Given the description of an element on the screen output the (x, y) to click on. 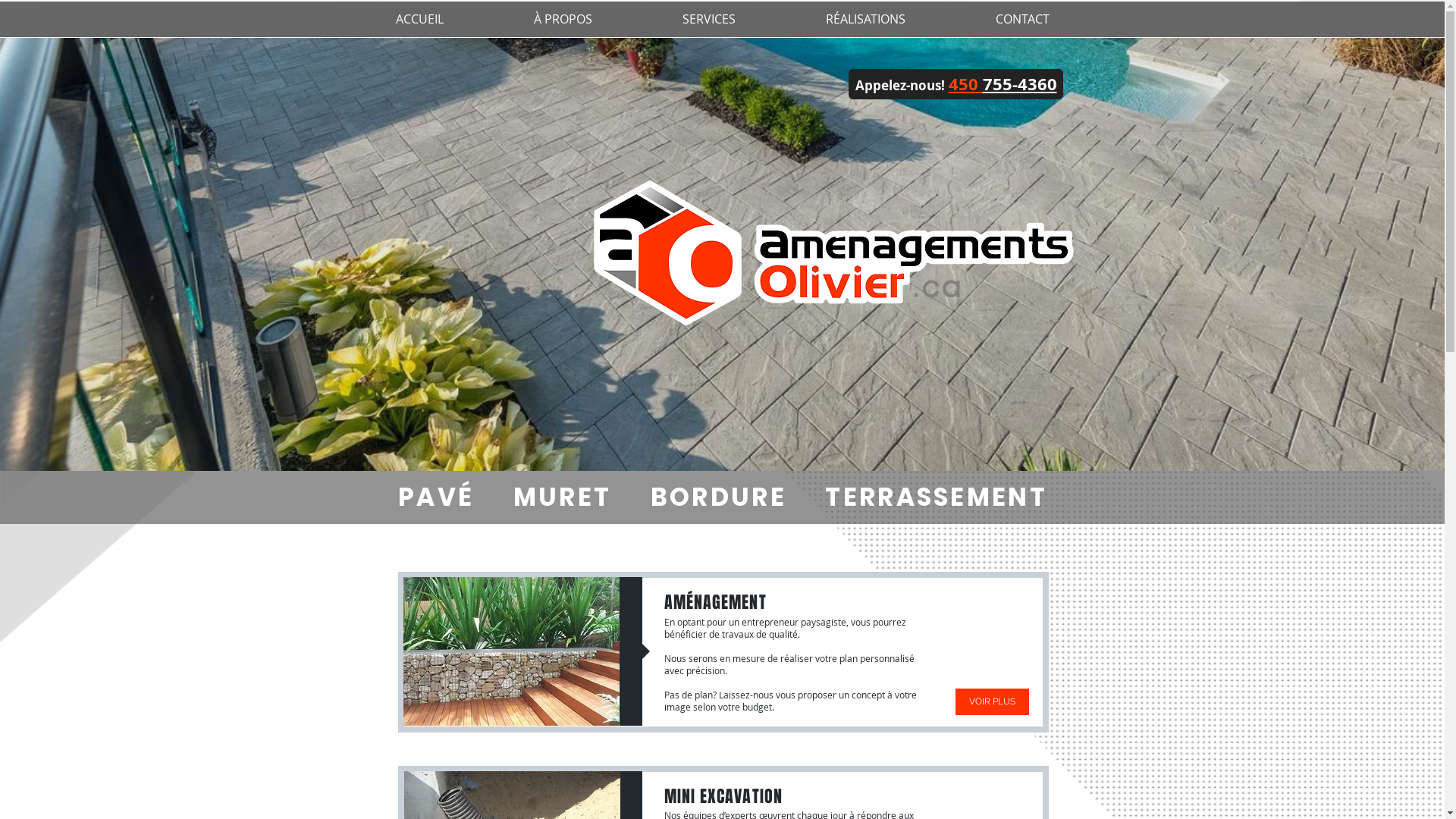
ACCUEIL Element type: text (419, 19)
SERVICES Element type: text (708, 19)
755-4360 Element type: text (1019, 83)
450  Element type: text (964, 83)
CONTACT Element type: text (1022, 19)
VOIR PLUS Element type: text (992, 701)
